Given the description of an element on the screen output the (x, y) to click on. 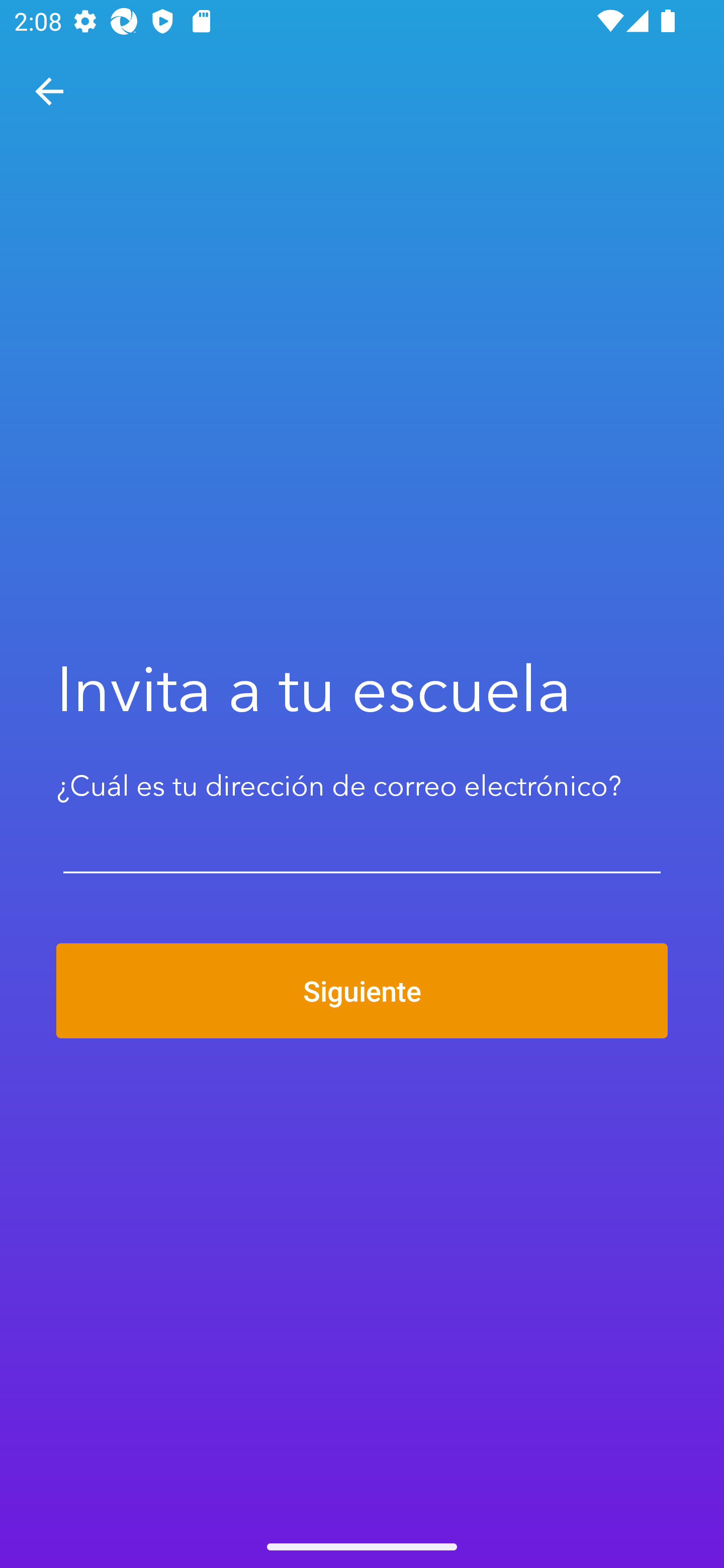
Navegar hacia arriba (49, 91)
Siguiente (361, 990)
